Given the description of an element on the screen output the (x, y) to click on. 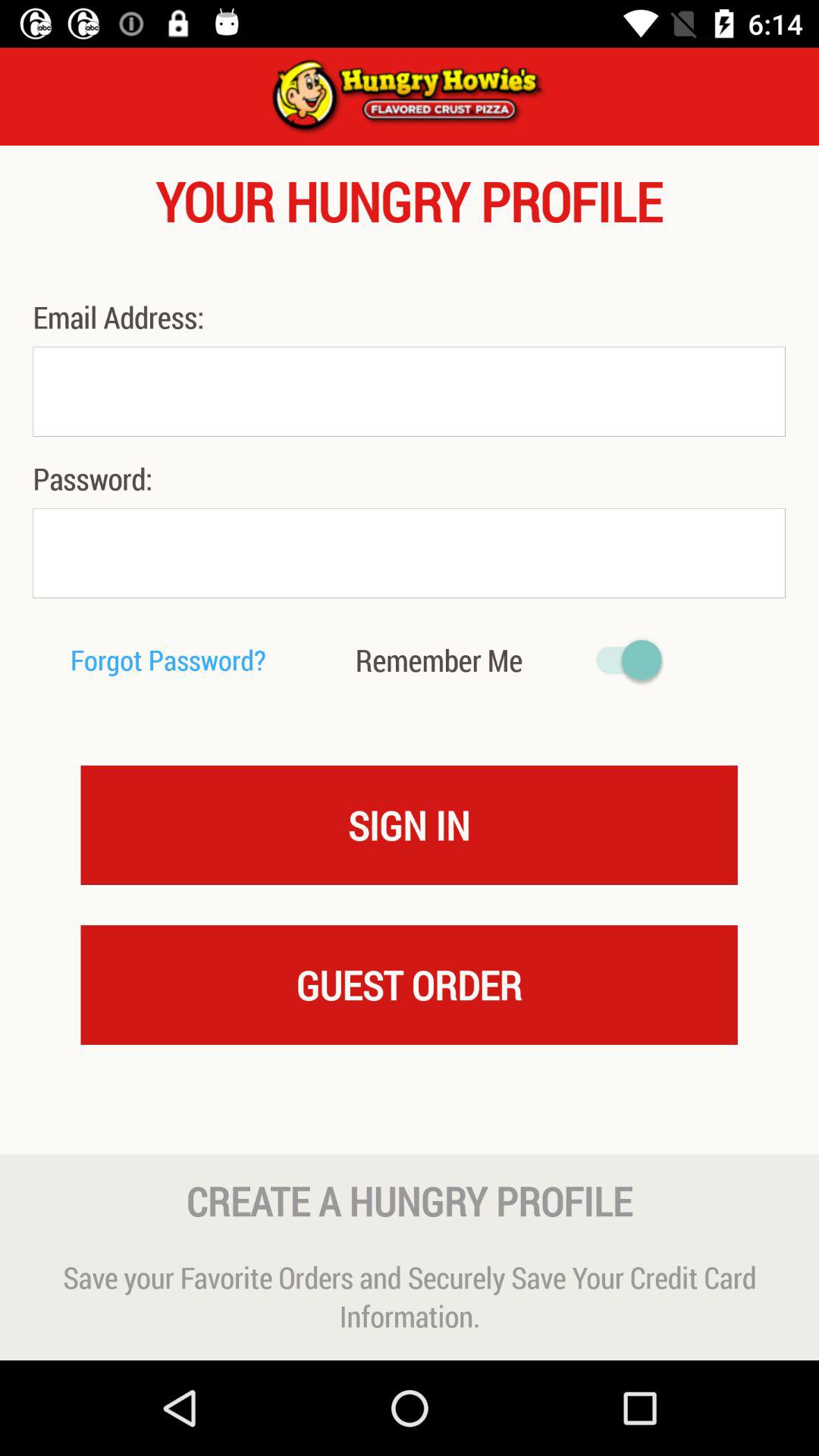
toggle remember email and password (621, 659)
